Given the description of an element on the screen output the (x, y) to click on. 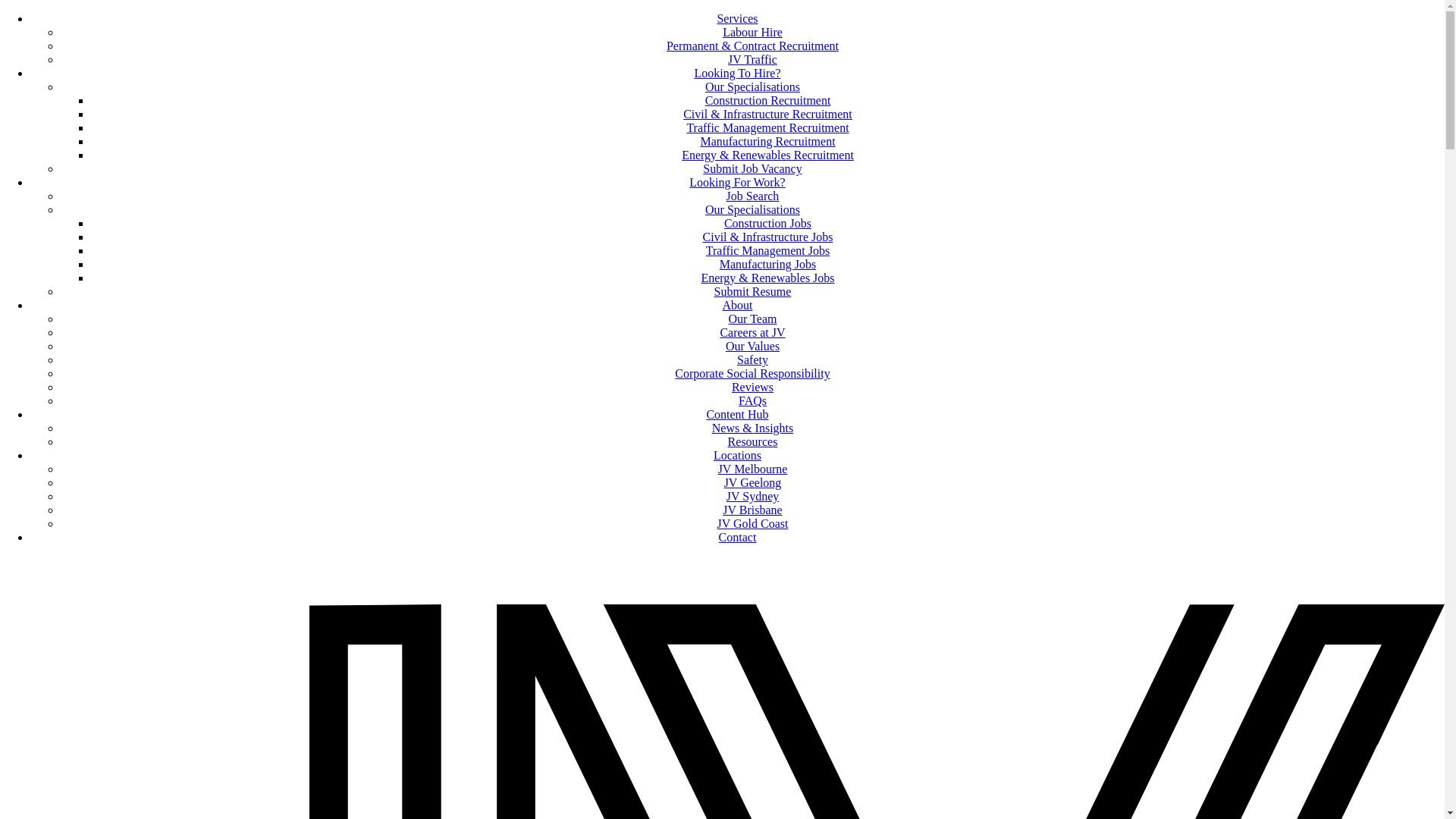
Civil & Infrastructure Recruitment Element type: text (767, 113)
About Element type: text (736, 304)
Energy & Renewables Jobs Element type: text (767, 277)
Energy & Renewables Recruitment Element type: text (767, 154)
Our Values Element type: text (752, 345)
Contact Element type: text (737, 536)
Looking For Work? Element type: text (736, 181)
Traffic Management Recruitment Element type: text (767, 127)
JV Sydney Element type: text (752, 495)
Traffic Management Jobs Element type: text (768, 250)
Civil & Infrastructure Jobs Element type: text (767, 236)
Reviews Element type: text (752, 386)
Permanent & Contract Recruitment Element type: text (752, 45)
Content Hub Element type: text (737, 413)
Locations Element type: text (737, 454)
JV Traffic Element type: text (752, 59)
JV Geelong Element type: text (752, 482)
Safety Element type: text (752, 359)
FAQs Element type: text (752, 400)
JV Brisbane Element type: text (751, 509)
Labour Hire Element type: text (752, 31)
Job Search Element type: text (752, 195)
Manufacturing Recruitment Element type: text (766, 140)
Submit Resume Element type: text (752, 291)
Resources Element type: text (753, 441)
News & Insights Element type: text (752, 427)
Our Team Element type: text (752, 318)
JV Gold Coast Element type: text (752, 523)
Services Element type: text (736, 18)
Submit Job Vacancy Element type: text (751, 168)
Careers at JV Element type: text (751, 332)
Our Specialisations Element type: text (752, 209)
JV Melbourne Element type: text (752, 468)
Construction Jobs Element type: text (767, 222)
Manufacturing Jobs Element type: text (767, 263)
Construction Recruitment Element type: text (768, 100)
Corporate Social Responsibility Element type: text (751, 373)
Looking To Hire? Element type: text (736, 72)
Our Specialisations Element type: text (752, 86)
